Given the description of an element on the screen output the (x, y) to click on. 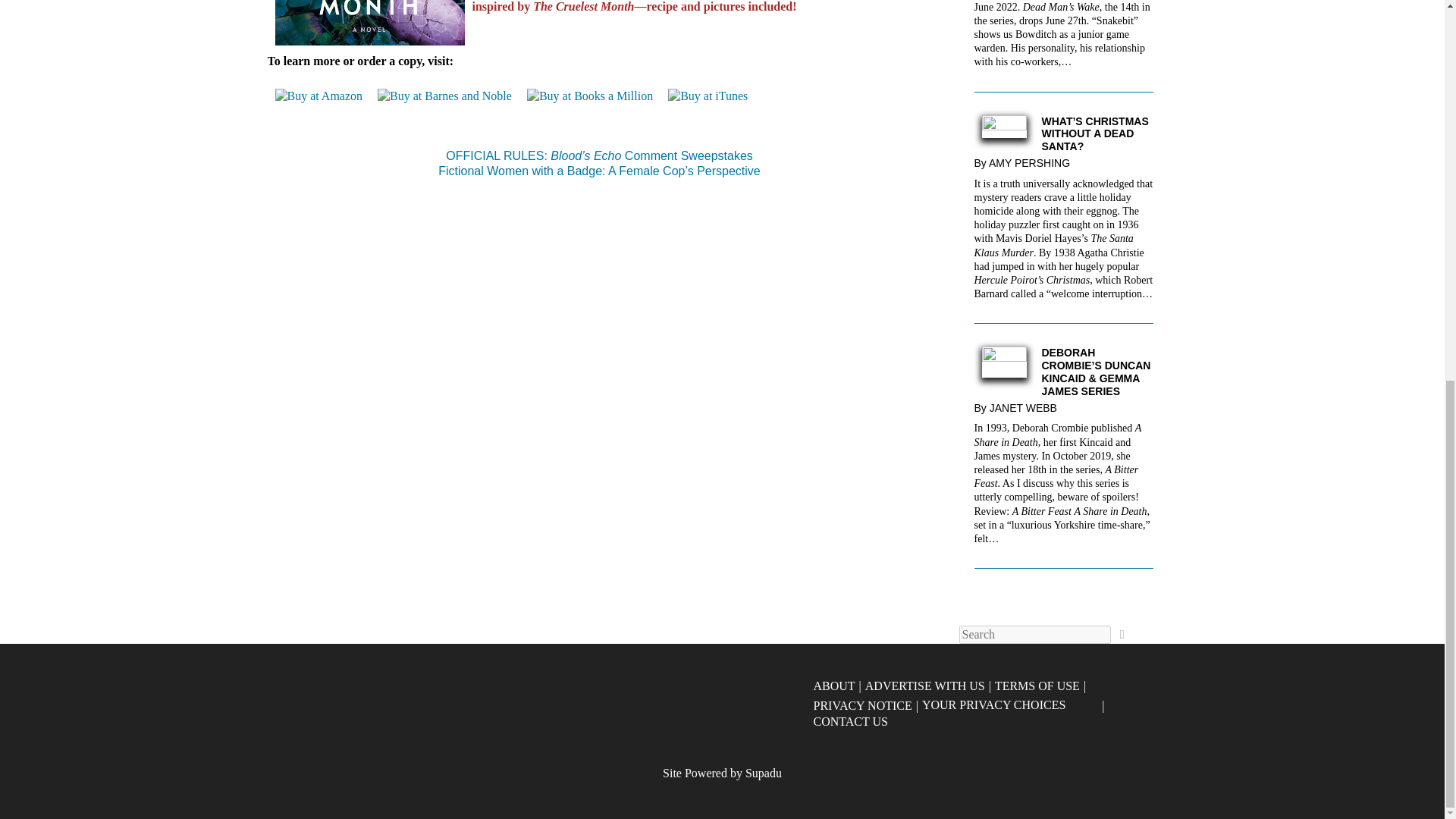
Amy Pershing (1032, 162)
Buy at Barnes and Noble (444, 114)
Janet Webb (1027, 408)
Buy at Books a Million (590, 112)
Buy at Amazon (317, 105)
Buy at iTunes (708, 104)
